Given the description of an element on the screen output the (x, y) to click on. 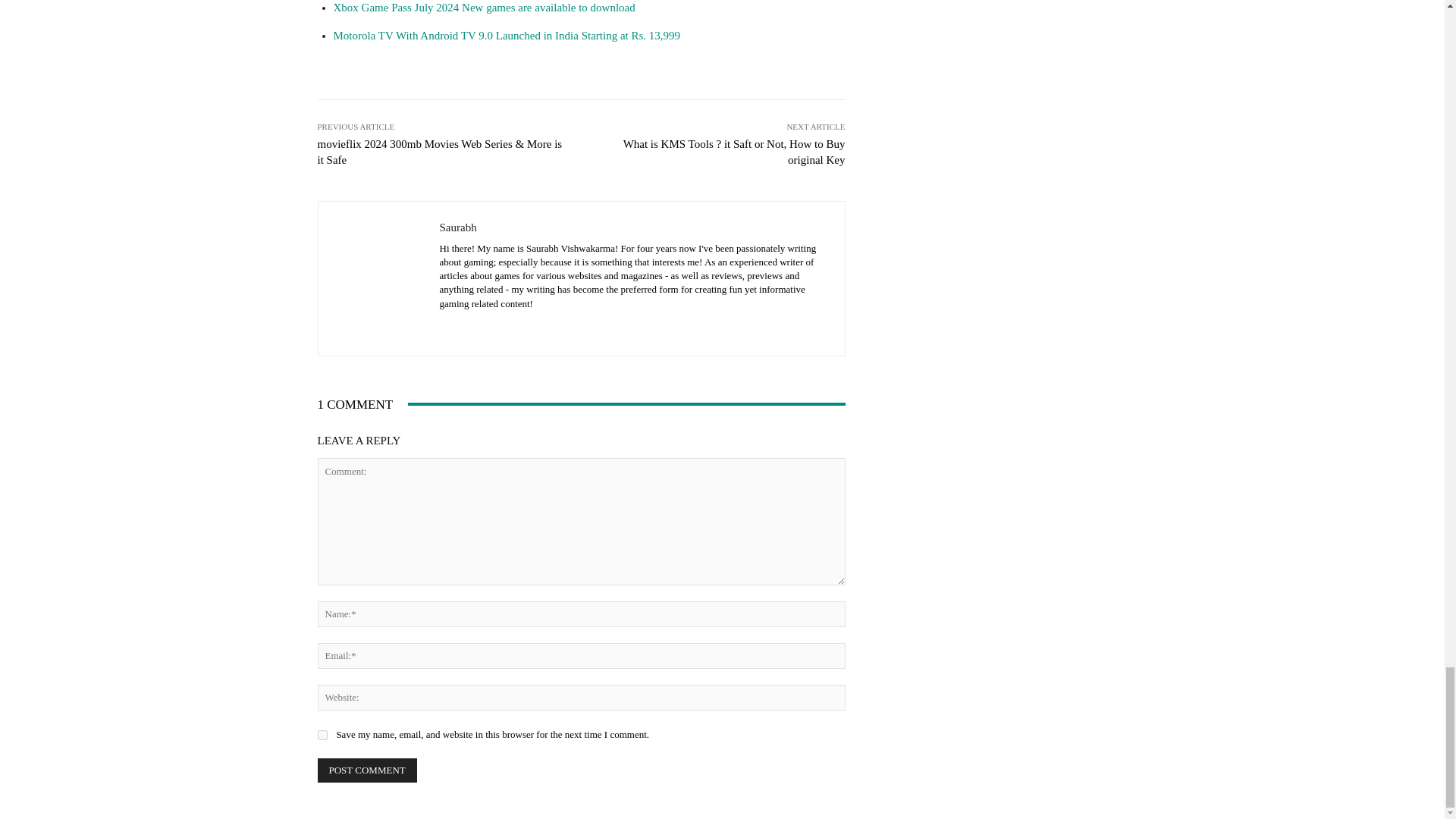
yes (321, 735)
Xbox Game Pass July 2024 New games are available to download (483, 7)
Facebook (445, 326)
Twitter (523, 326)
Telegram (498, 326)
Post Comment (366, 770)
Instagram (471, 326)
